Given the description of an element on the screen output the (x, y) to click on. 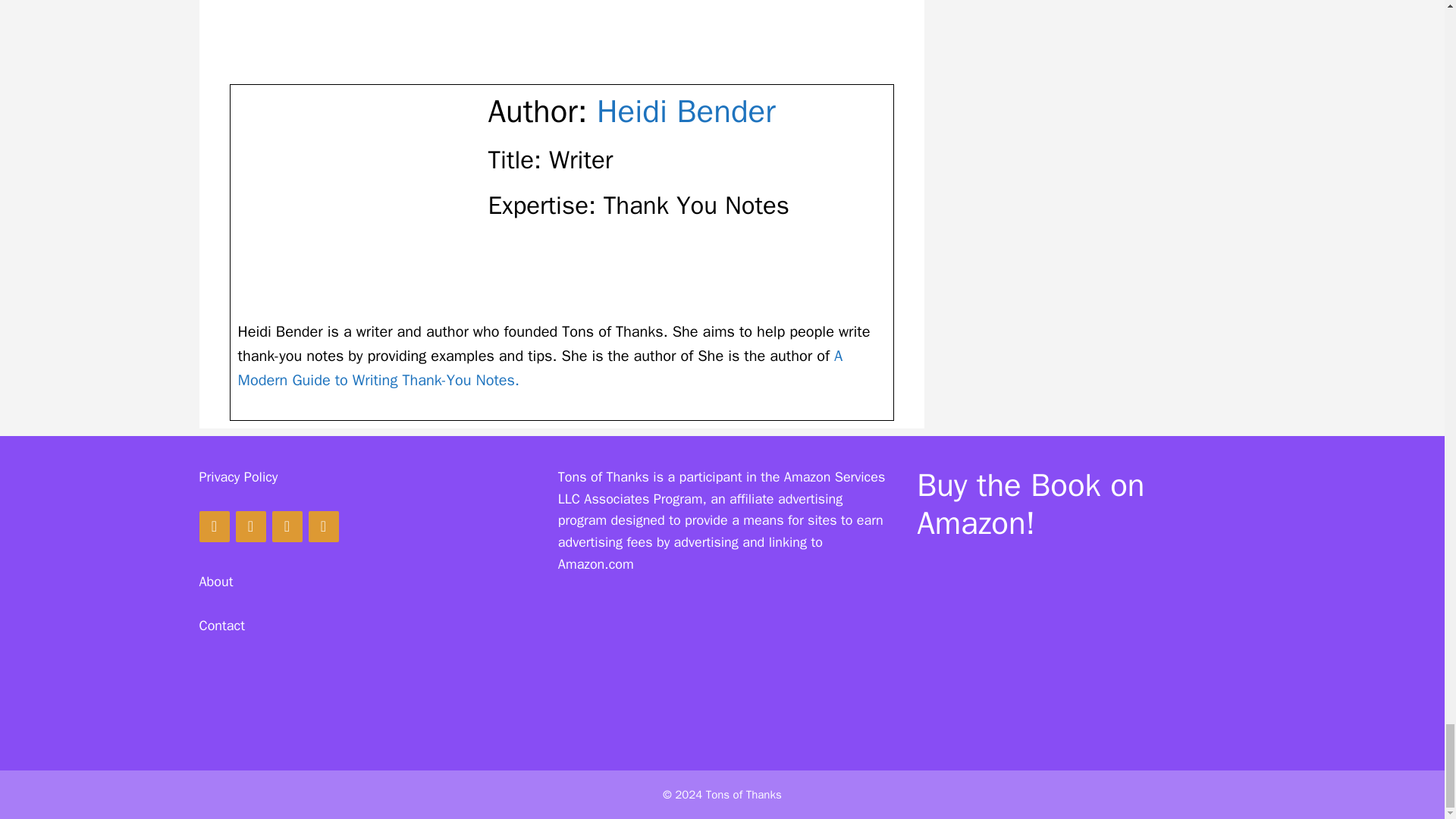
Twitter (285, 526)
LinkedIn (322, 526)
Facebook (213, 526)
Pinterest (249, 526)
